Given the description of an element on the screen output the (x, y) to click on. 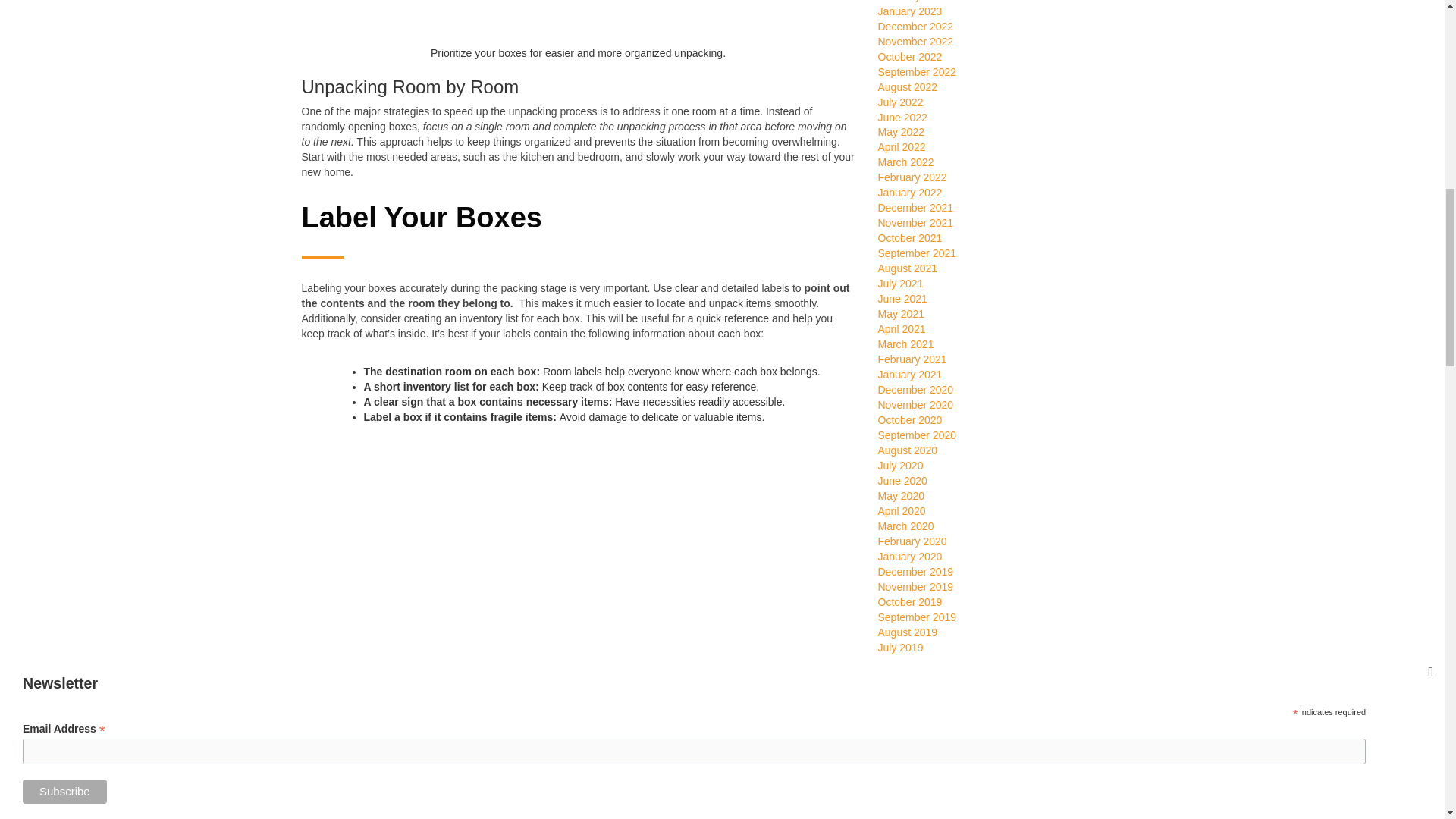
packaging companies in Jeddah (545, 765)
